Given the description of an element on the screen output the (x, y) to click on. 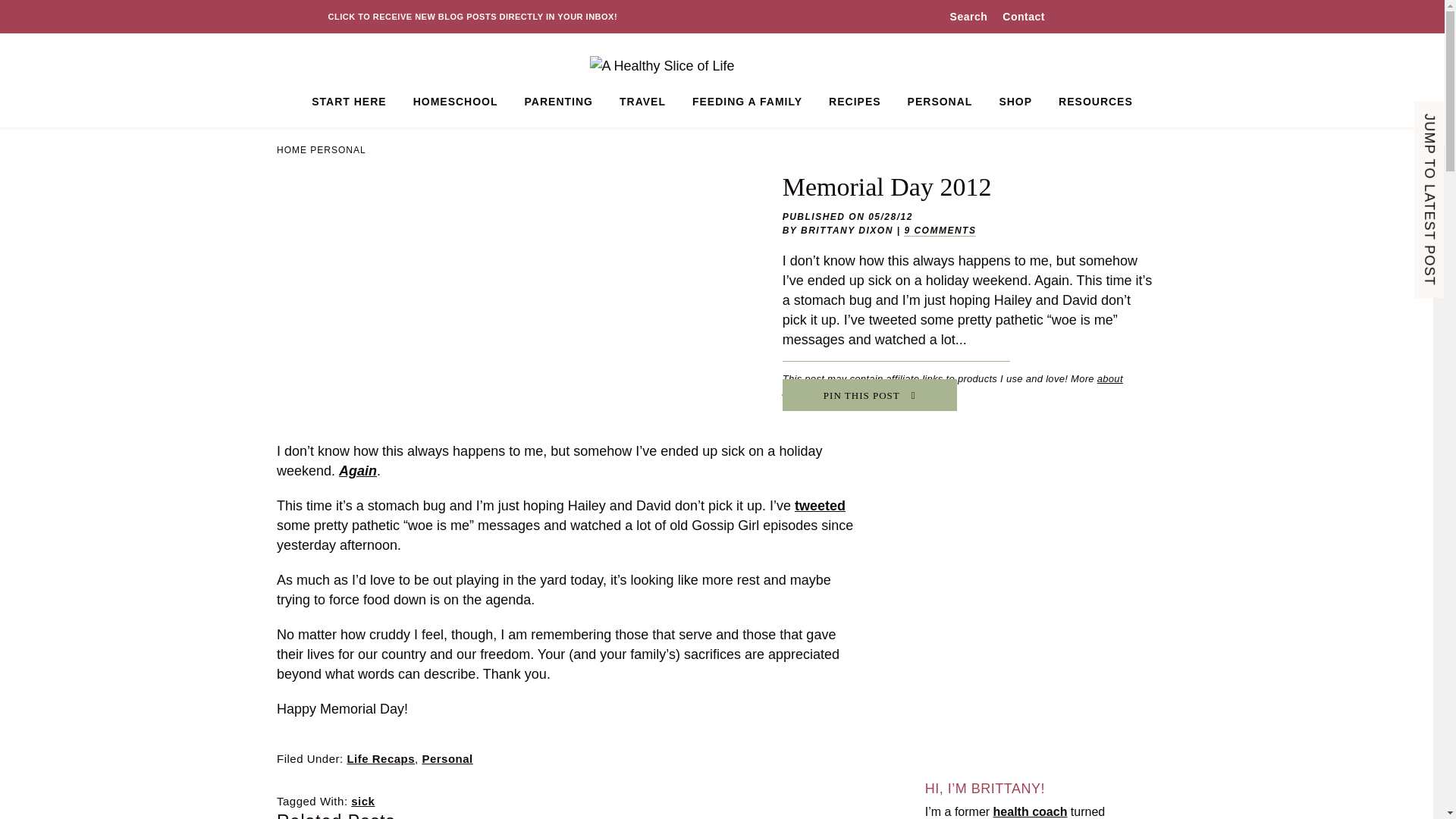
HOMESCHOOL (455, 101)
Search (966, 16)
PARENTING (558, 101)
Save to Pinterest (869, 395)
Contact (1024, 16)
FEEDING A FAMILY (747, 101)
instagram (1070, 16)
TRAVEL (642, 101)
START HERE (348, 101)
